Given the description of an element on the screen output the (x, y) to click on. 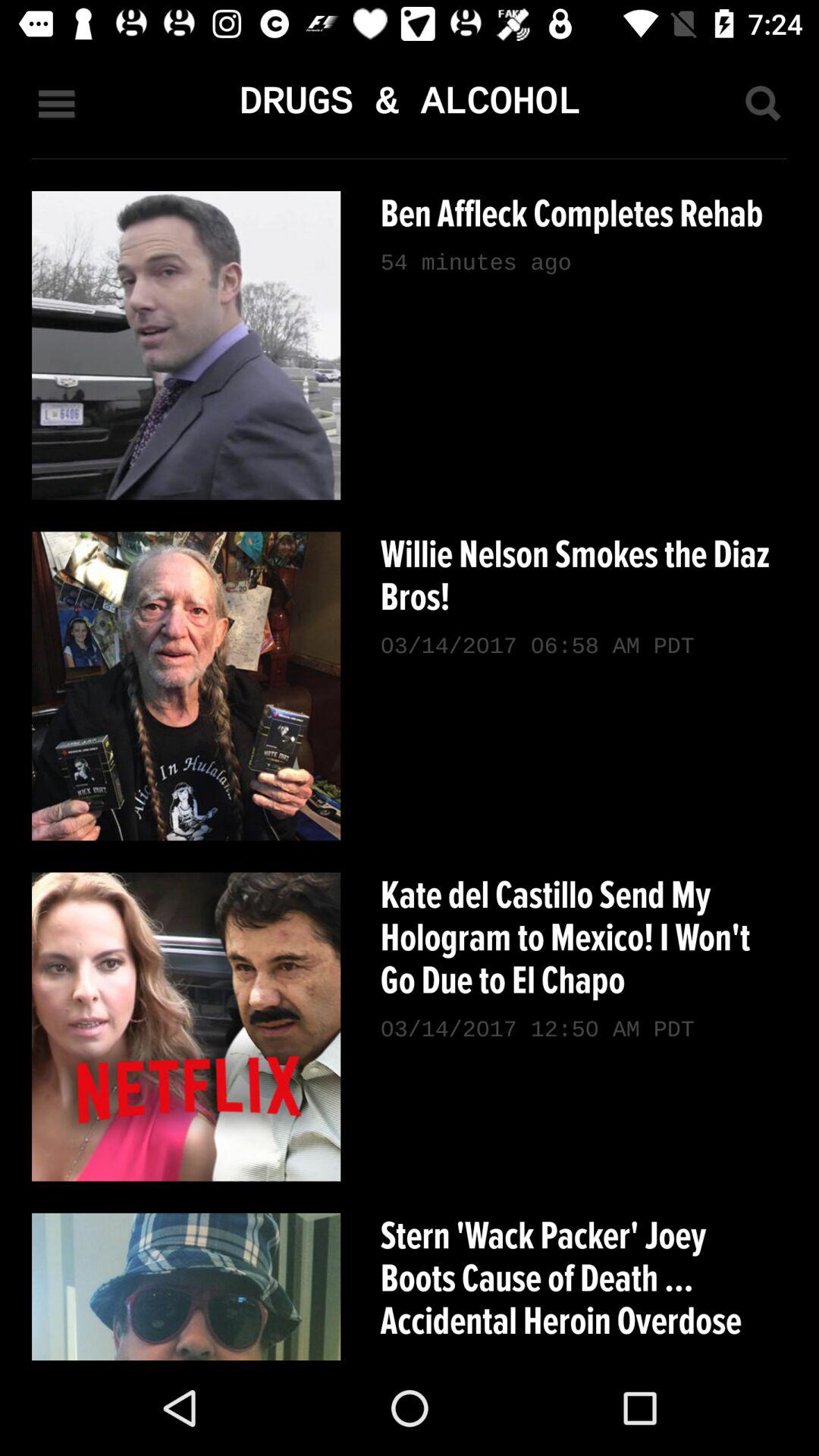
search (762, 103)
